Given the description of an element on the screen output the (x, y) to click on. 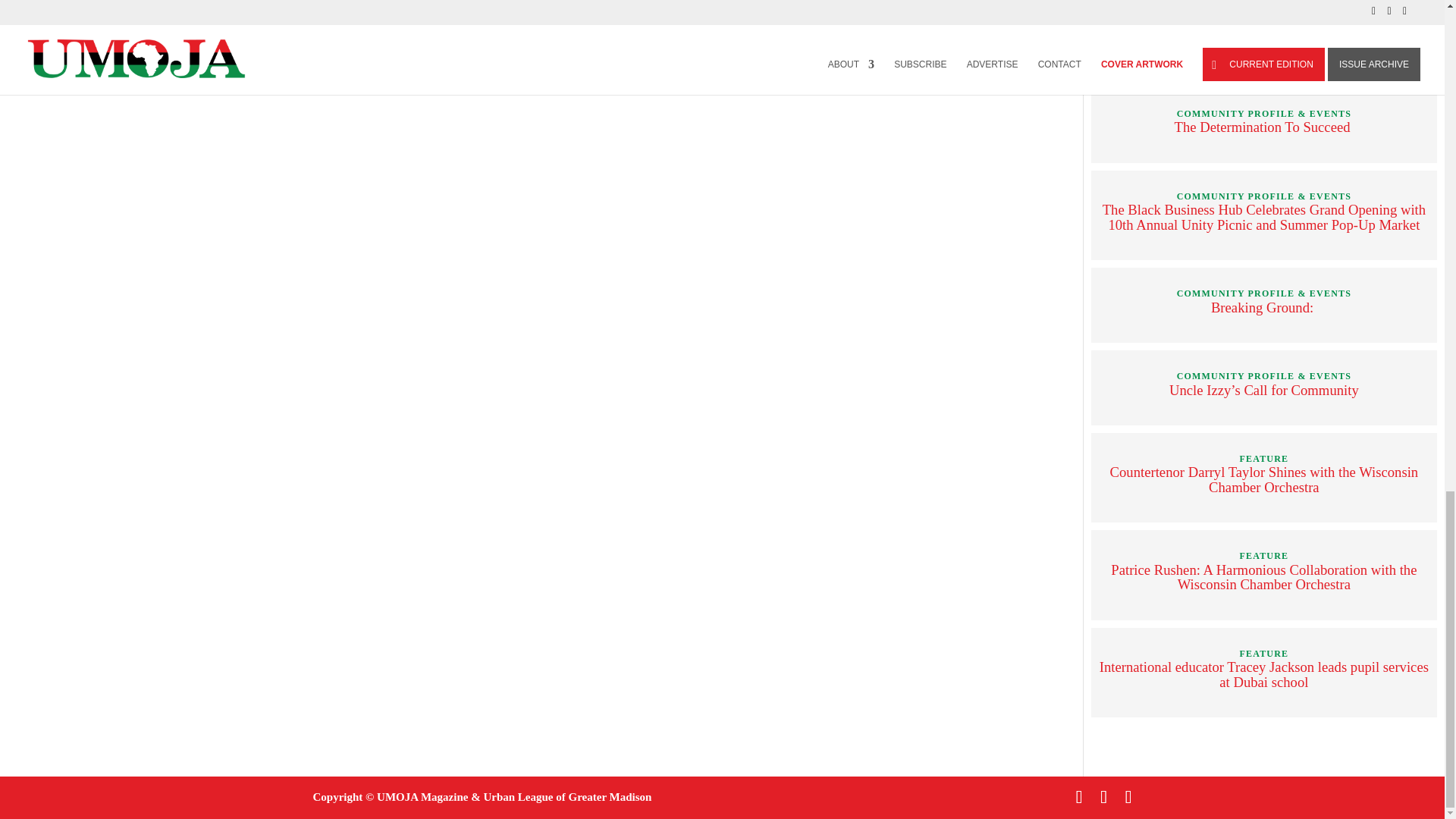
Breaking Ground:  (1264, 307)
The Determination To Succeed  (1264, 126)
TruStage Community Impact Day (1263, 44)
